Given the description of an element on the screen output the (x, y) to click on. 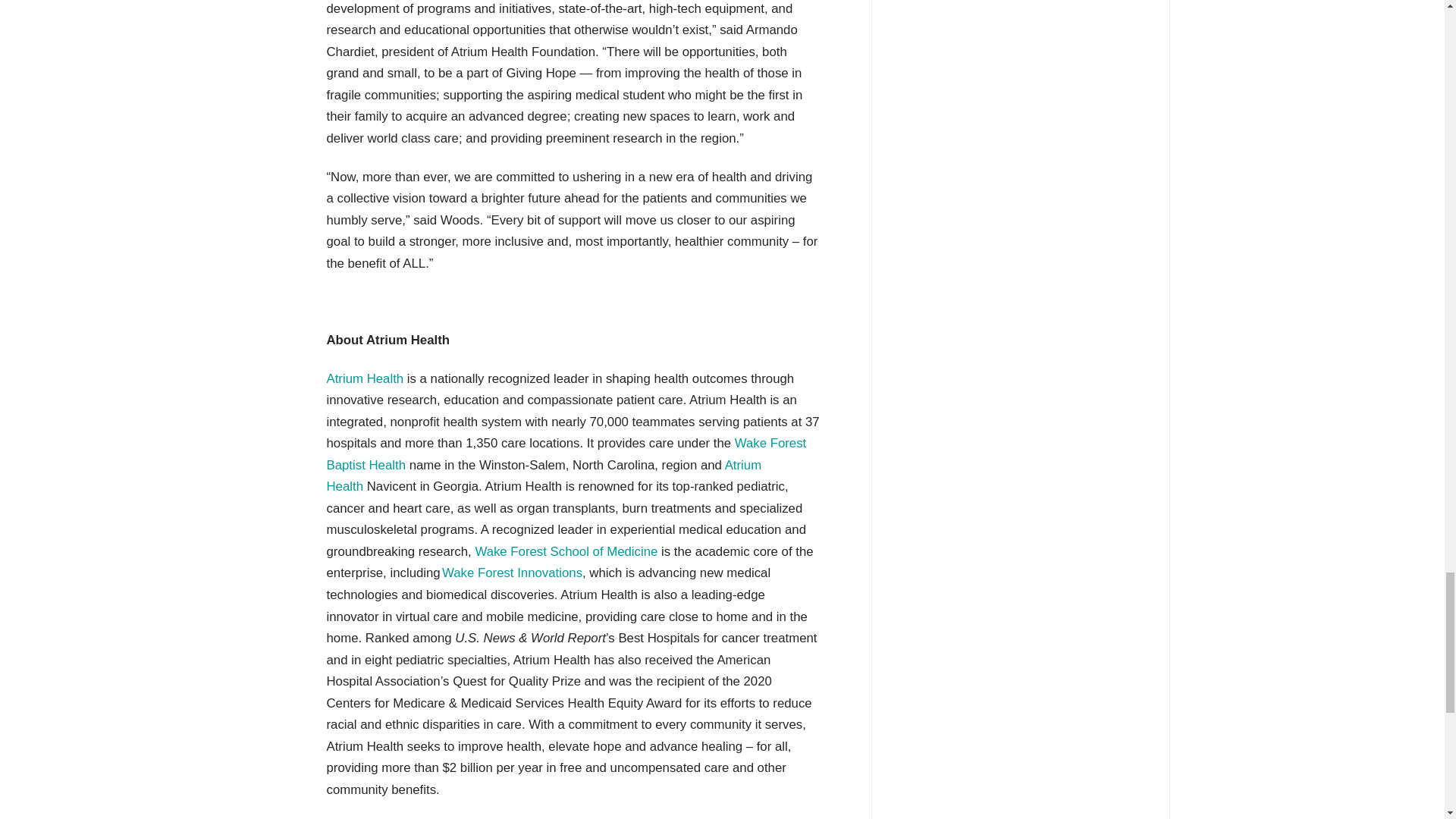
Atrium Health (364, 378)
Wake Forest Baptist Health (566, 453)
Wake Forest School of Medicine (566, 551)
Atrium Health (543, 475)
Wake Forest Innovations (512, 572)
